Given the description of an element on the screen output the (x, y) to click on. 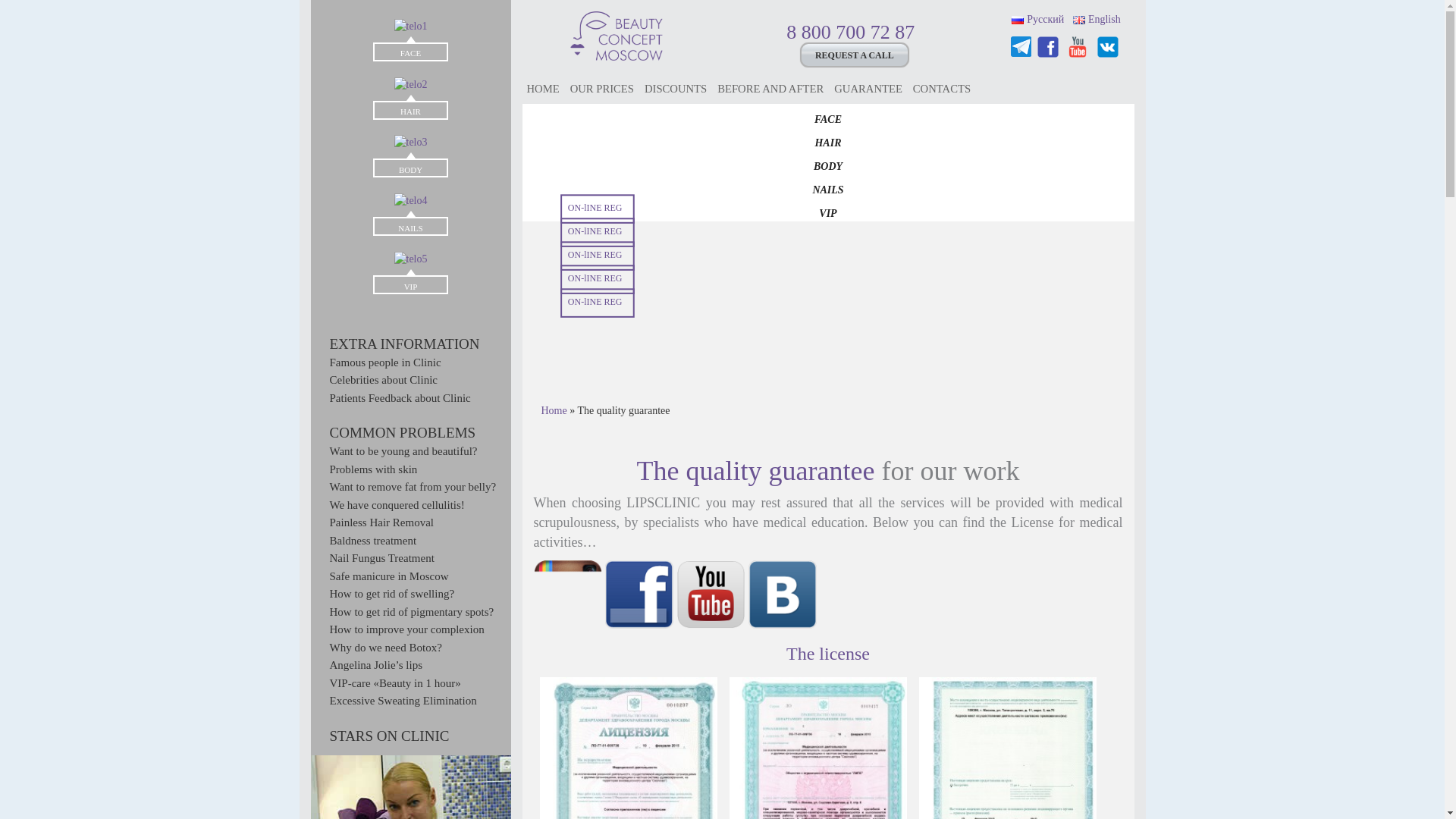
Youtube (1079, 45)
How to get rid of pigmentary spots? (411, 612)
Celebrities about Clinic (382, 379)
Why do we need Botox? (385, 647)
How to get rid of swelling? (391, 593)
Safe manicure in Moscow (388, 576)
FACE (410, 53)
Facebook (1048, 45)
REQUEST A CALL (853, 54)
Nail Fungus Treatment (381, 558)
